Given the description of an element on the screen output the (x, y) to click on. 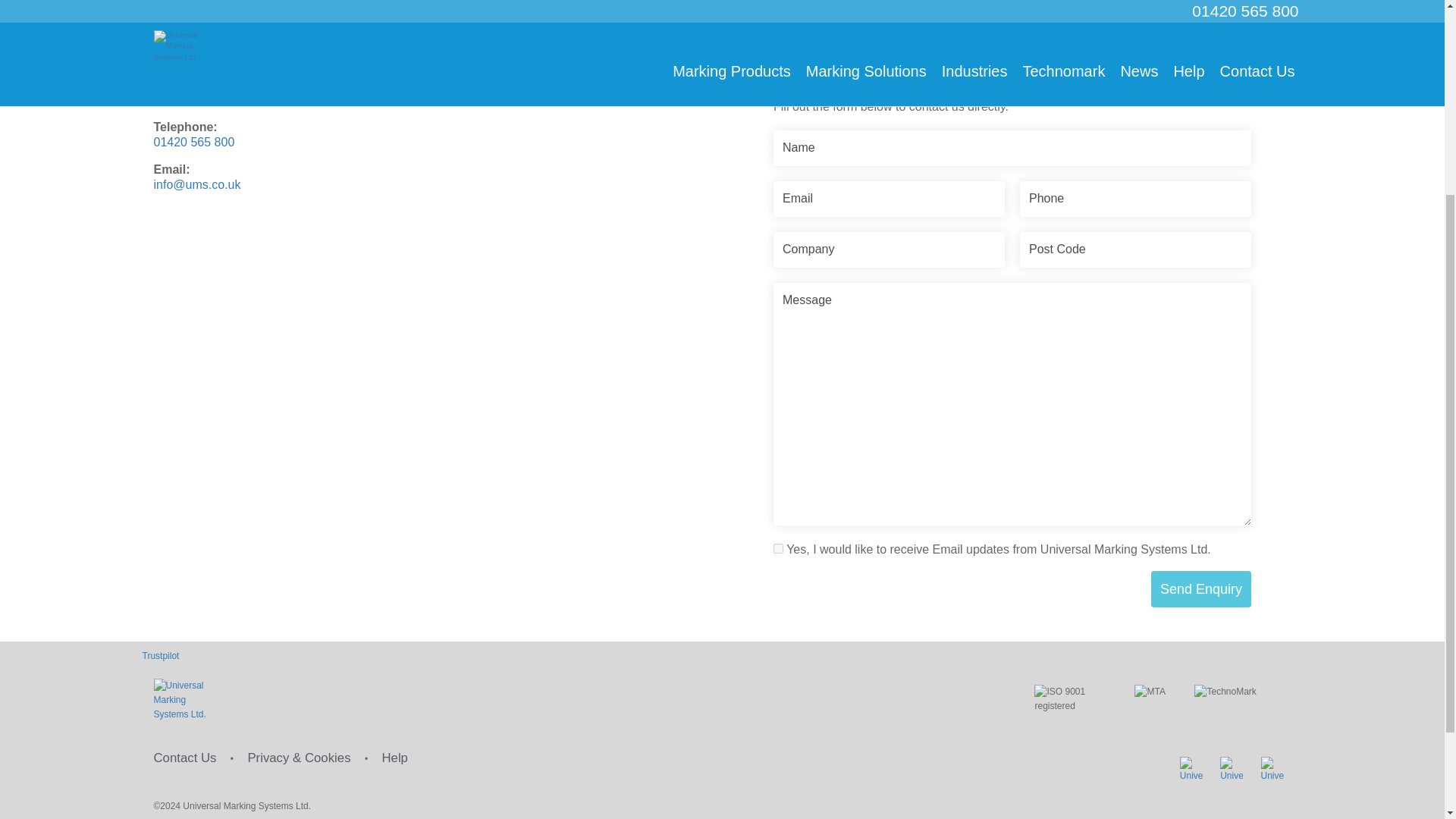
Post Code (1135, 235)
Name (1011, 134)
ISO 9001 registered (1070, 695)
MTA (1150, 693)
TechnoMark (1235, 690)
Phone (1135, 185)
Company (888, 235)
YouTube (1271, 766)
Twitter (1190, 766)
Yes (778, 534)
Universal Marking Systems Ltd. (183, 695)
Send Enquiry (1200, 575)
Email (888, 185)
Customer reviews powered by Trustpilot (722, 644)
Linked In (1231, 766)
